Given the description of an element on the screen output the (x, y) to click on. 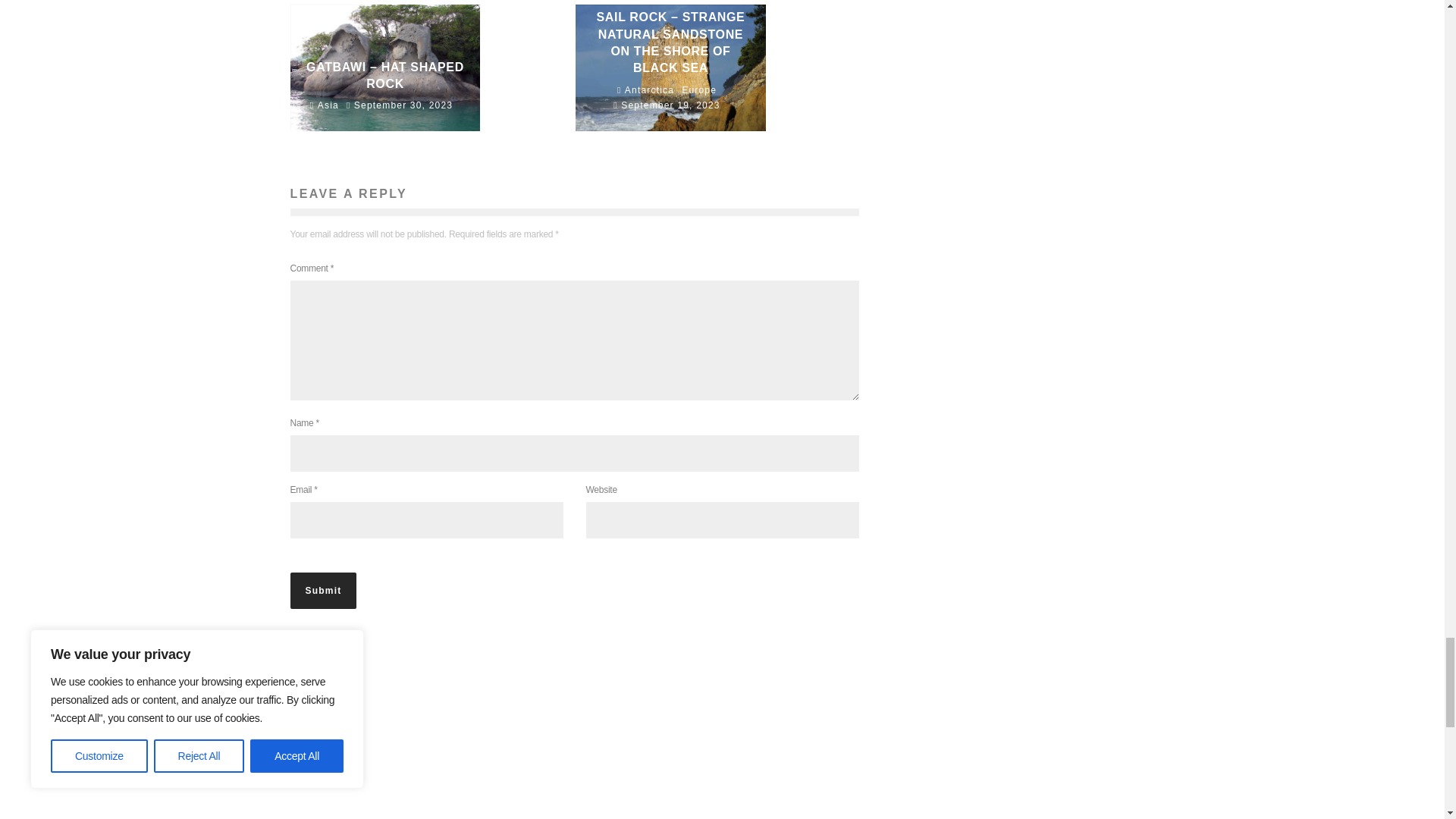
Submit (322, 590)
